Given the description of an element on the screen output the (x, y) to click on. 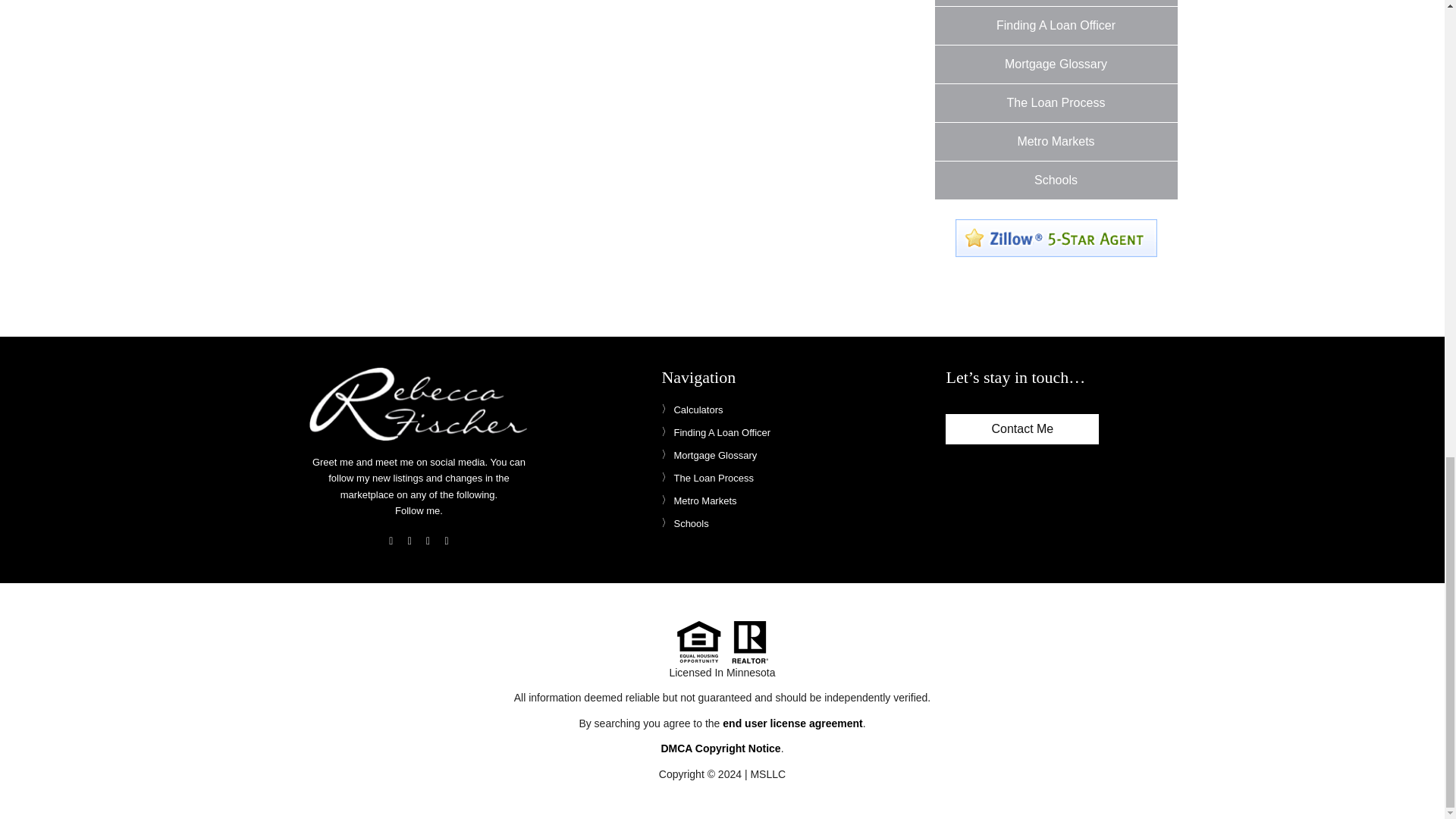
Metro Markets (1055, 141)
Calculators (691, 409)
The Loan Process (1055, 103)
Mortgage Glossary (709, 455)
Finding A Loan Officer (715, 432)
Finding A Loan Officer (1055, 25)
Calculators (1055, 2)
Mortgage Glossary (1055, 64)
Schools (1055, 180)
